Given the description of an element on the screen output the (x, y) to click on. 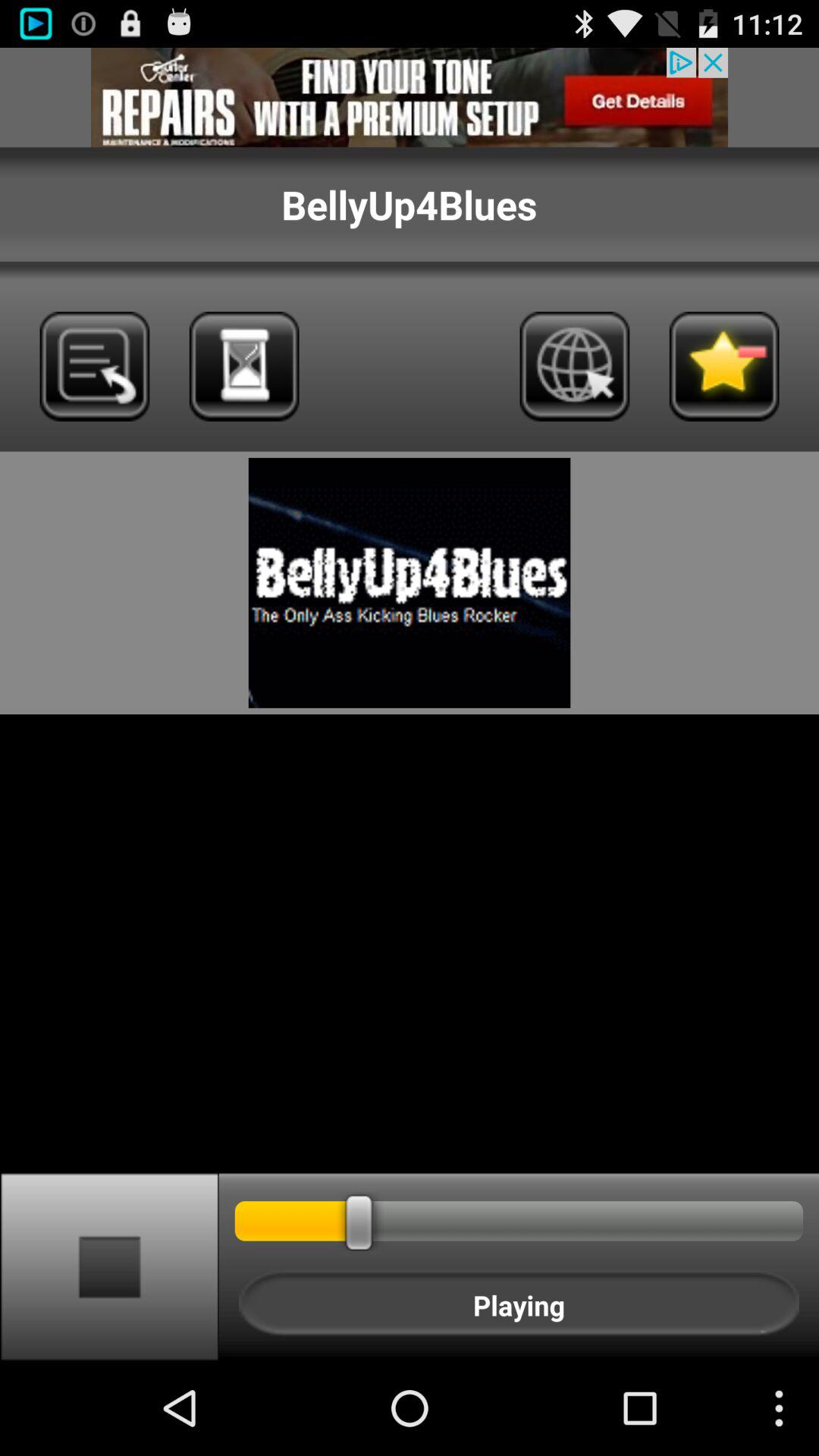
stop (109, 1266)
